Given the description of an element on the screen output the (x, y) to click on. 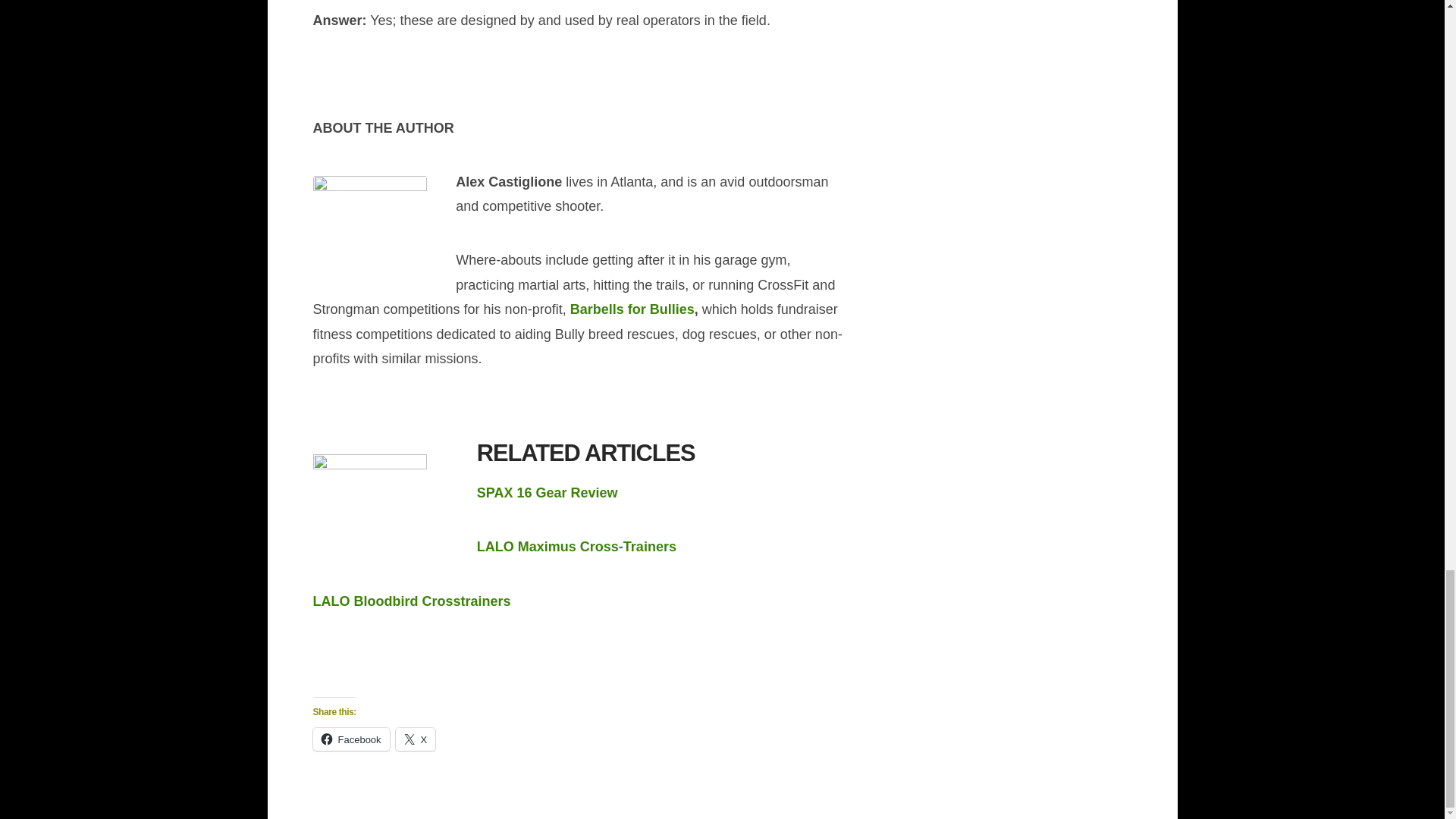
SPAX 16 Gear Review (547, 492)
Click to share on Facebook (350, 739)
Barbells for Bullies (632, 309)
X (415, 739)
Click to share on X (415, 739)
LALO Bloodbird Crosstrainers (412, 601)
Facebook (350, 739)
LALO Maximus Cross-Trainers (577, 546)
